Given the description of an element on the screen output the (x, y) to click on. 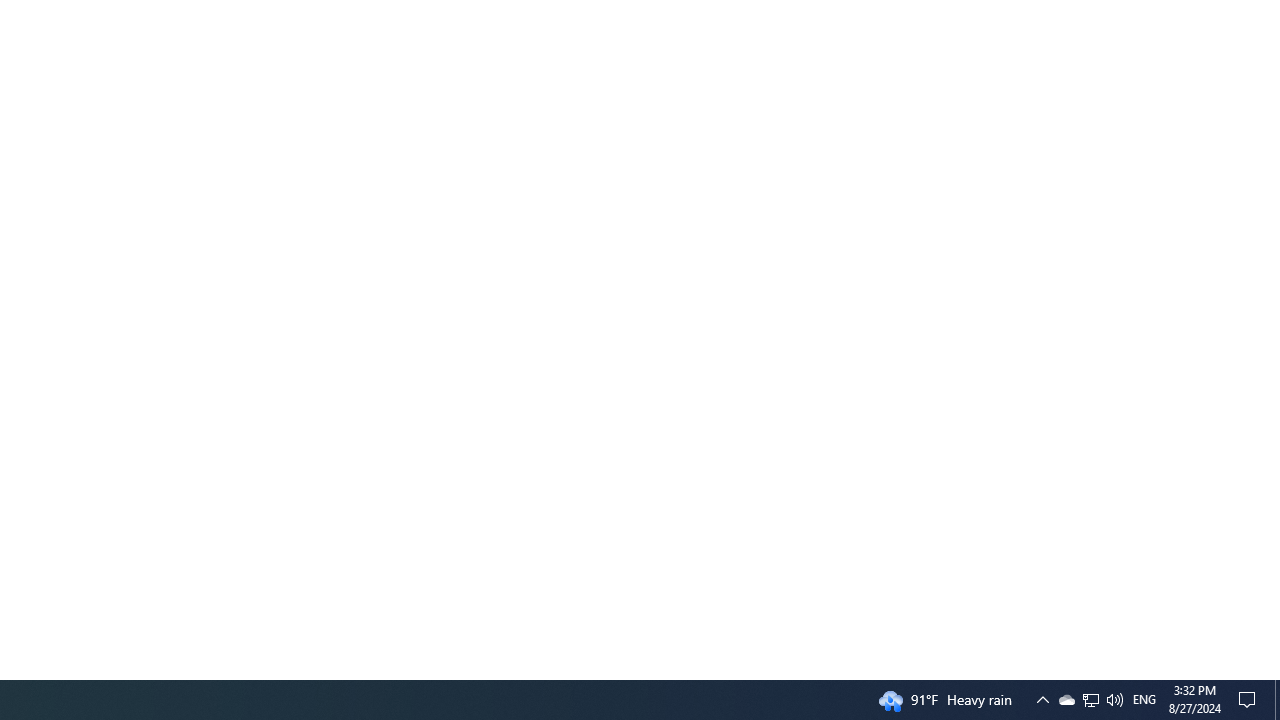
Tray Input Indicator - English (United States) (1144, 699)
